Given the description of an element on the screen output the (x, y) to click on. 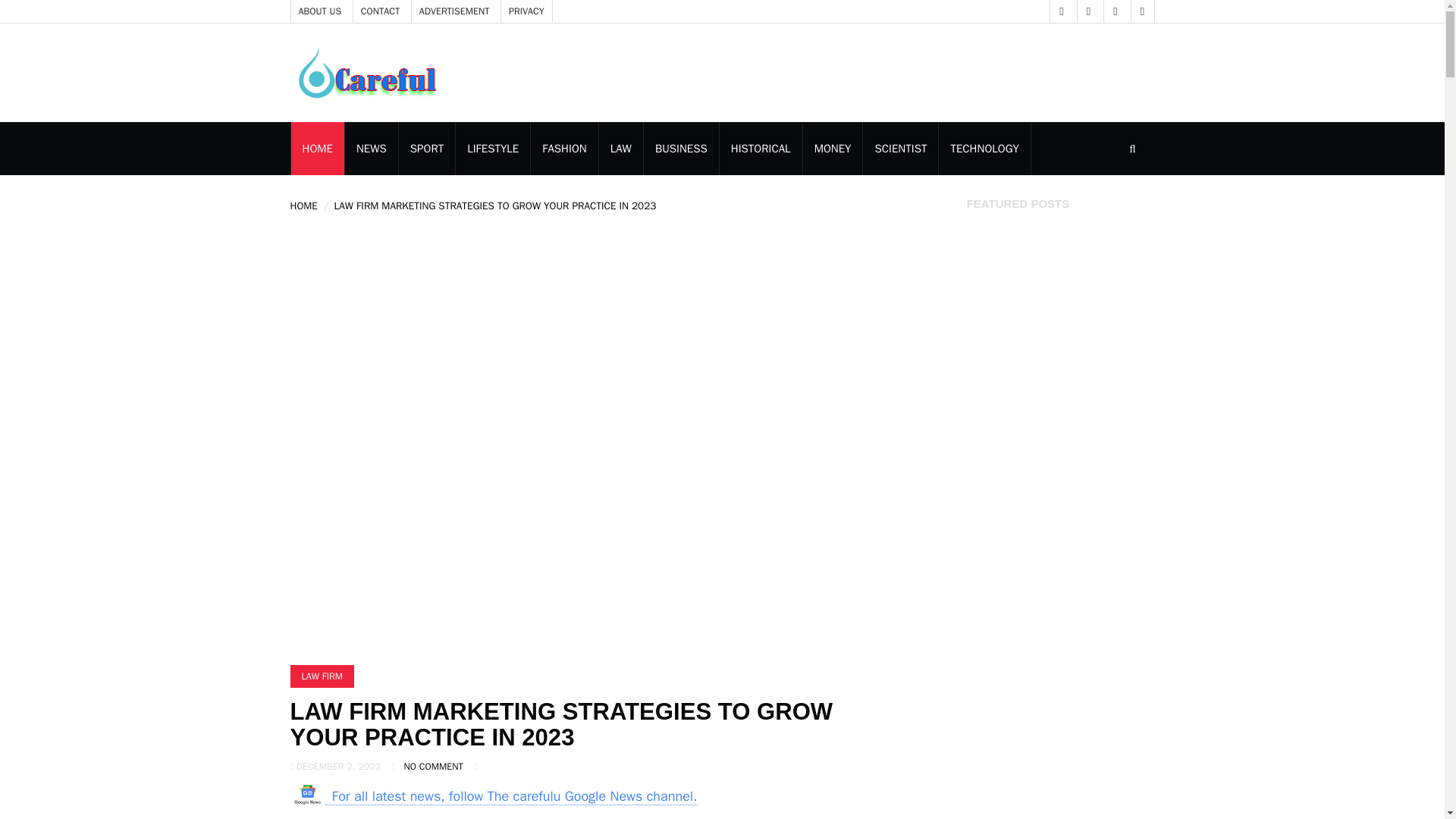
SPORT (426, 148)
NO COMMENT (433, 766)
MONEY (833, 148)
Search (1042, 248)
NEWS (371, 148)
TECHNOLOGY (984, 148)
ABOUT US (320, 11)
HOME (303, 205)
LAW FIRM (321, 676)
SCIENTIST (900, 148)
ADVERTISEMENT (454, 11)
CONTACT (380, 11)
BUSINESS (681, 148)
FASHION (563, 148)
LAW (620, 148)
